Given the description of an element on the screen output the (x, y) to click on. 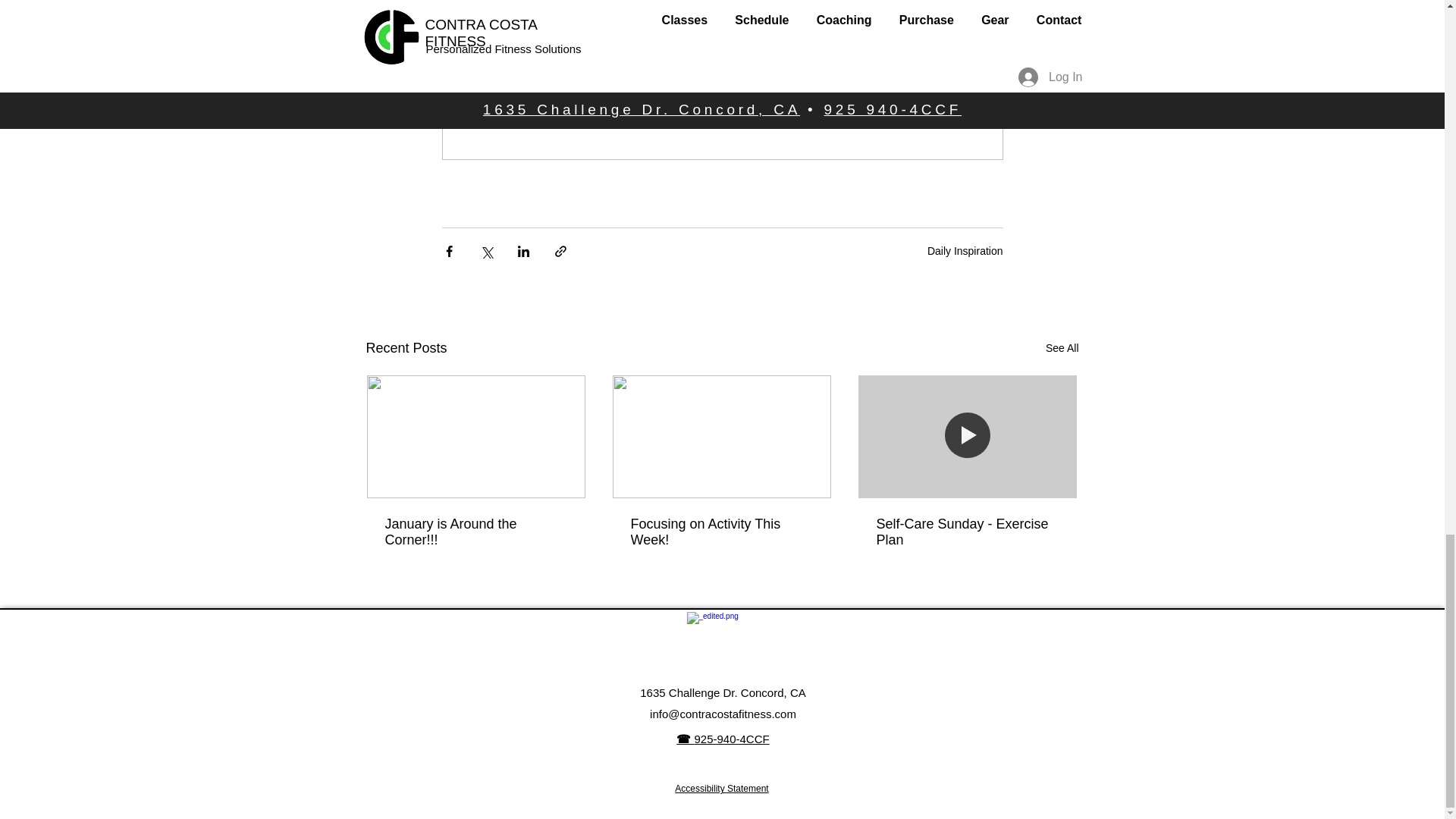
Focusing on Activity This Week! (721, 531)
See All (1061, 348)
Daily Inspiration (965, 250)
January is Around the Corner!!! (476, 531)
contracostafitness.com (736, 713)
1635 Challenge Dr. Concord, CA (722, 692)
Self-Care Sunday - Exercise Plan (967, 531)
Accessibility Statement (721, 787)
